Given the description of an element on the screen output the (x, y) to click on. 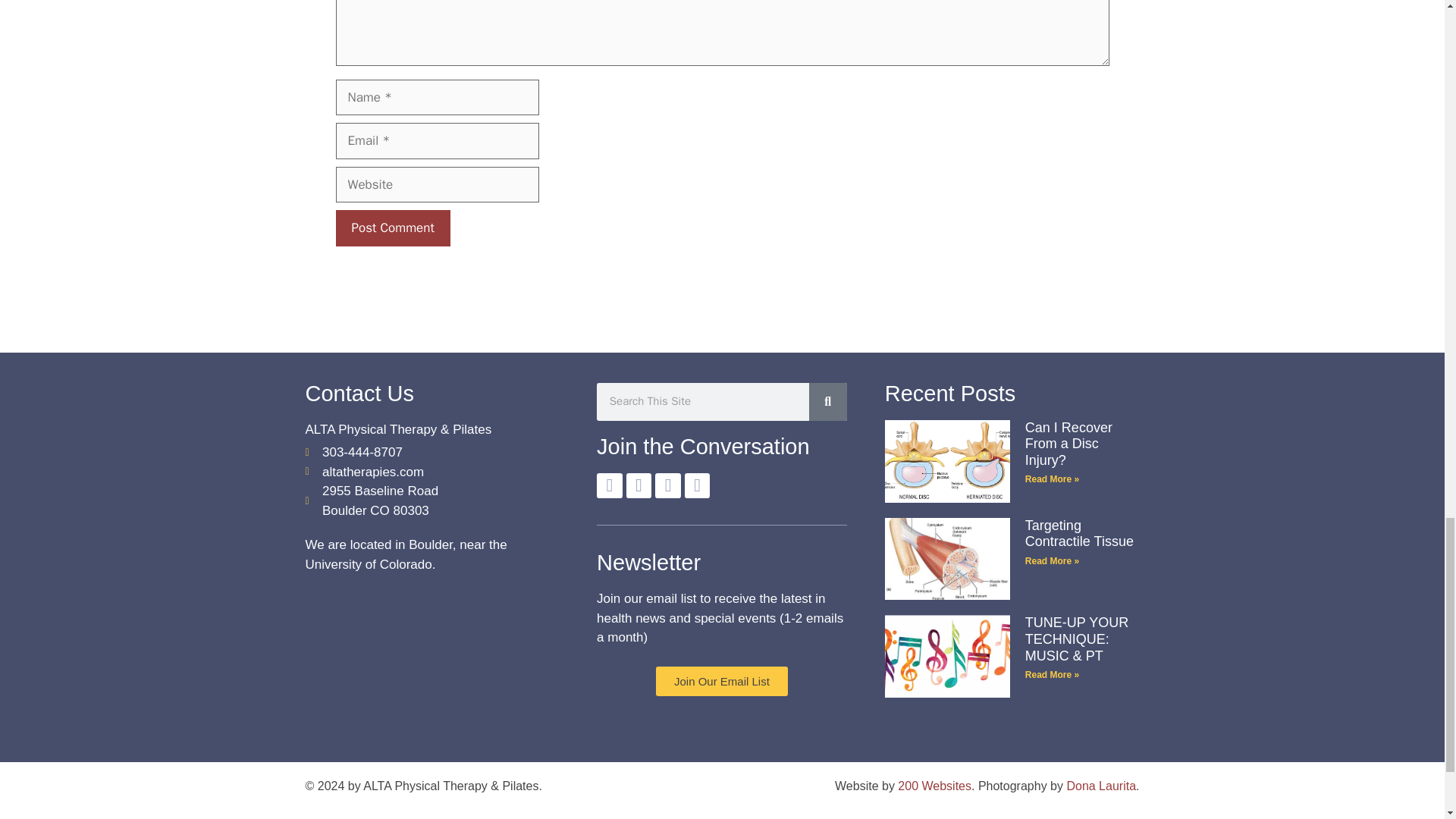
Post Comment (391, 227)
